Given the description of an element on the screen output the (x, y) to click on. 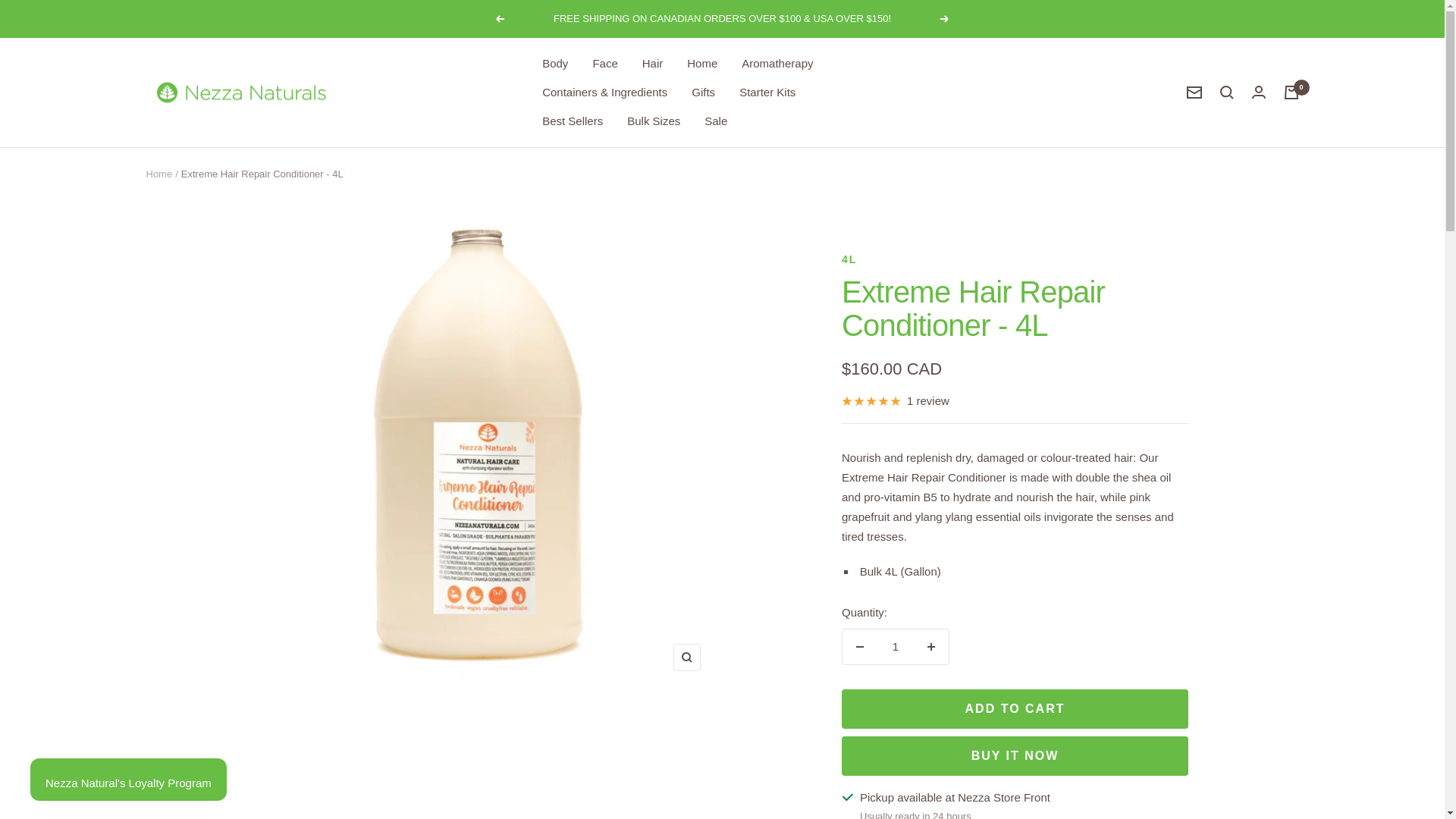
0 (1291, 92)
Aromatherapy (776, 63)
Decrease quantity (860, 646)
Body (554, 63)
Home (702, 63)
Next (944, 18)
1 (895, 646)
Gifts (702, 92)
Increase quantity (931, 646)
Newsletter (1194, 92)
1 review (895, 401)
BUY IT NOW (1014, 755)
Starter Kits (766, 92)
Nezza Naturals (239, 92)
Home (158, 173)
